Given the description of an element on the screen output the (x, y) to click on. 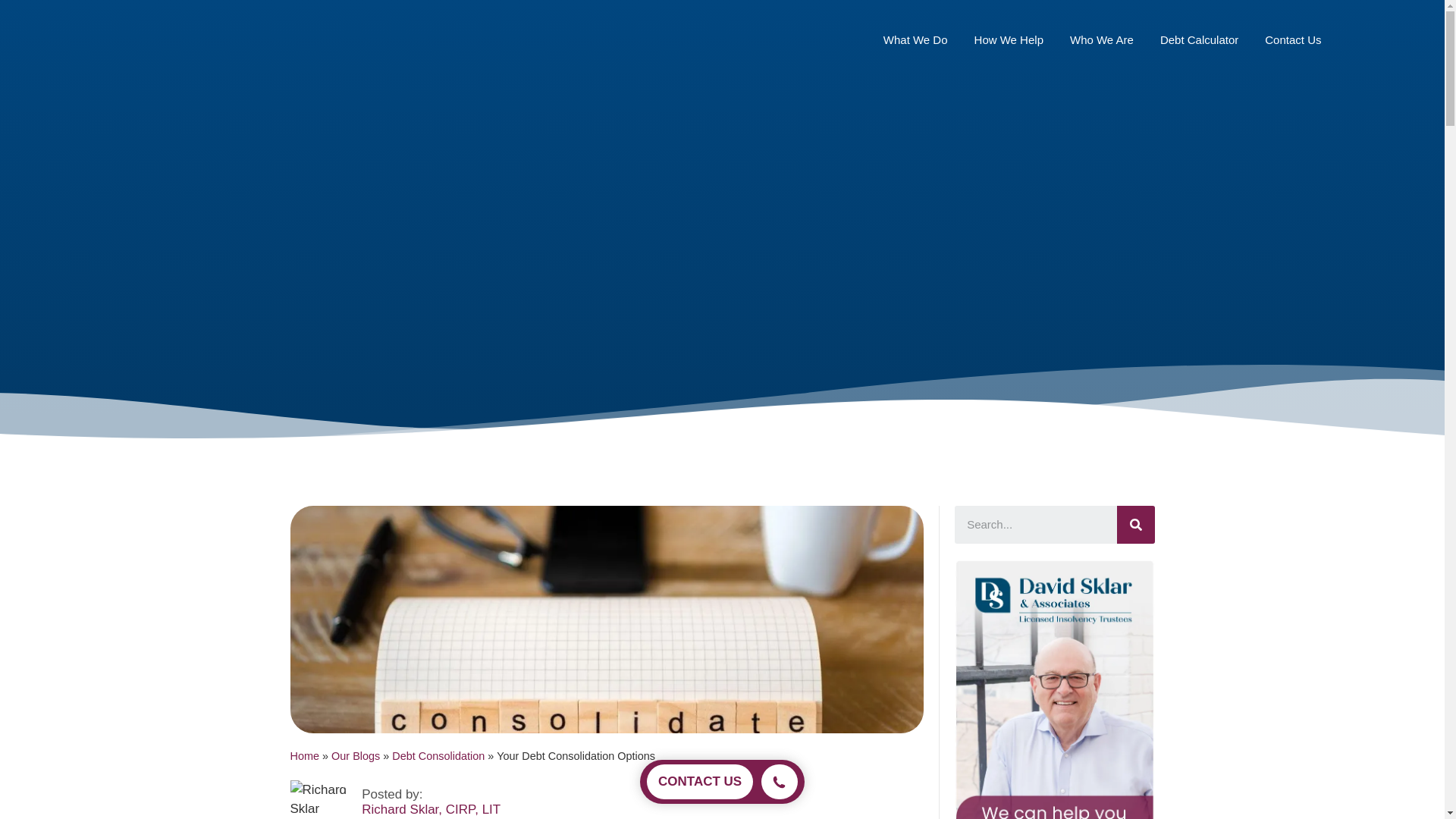
What We Do (915, 39)
How We Help (1008, 39)
Contact Us (1292, 39)
Debt Calculator (1199, 39)
Who We Are (1102, 39)
